Given the description of an element on the screen output the (x, y) to click on. 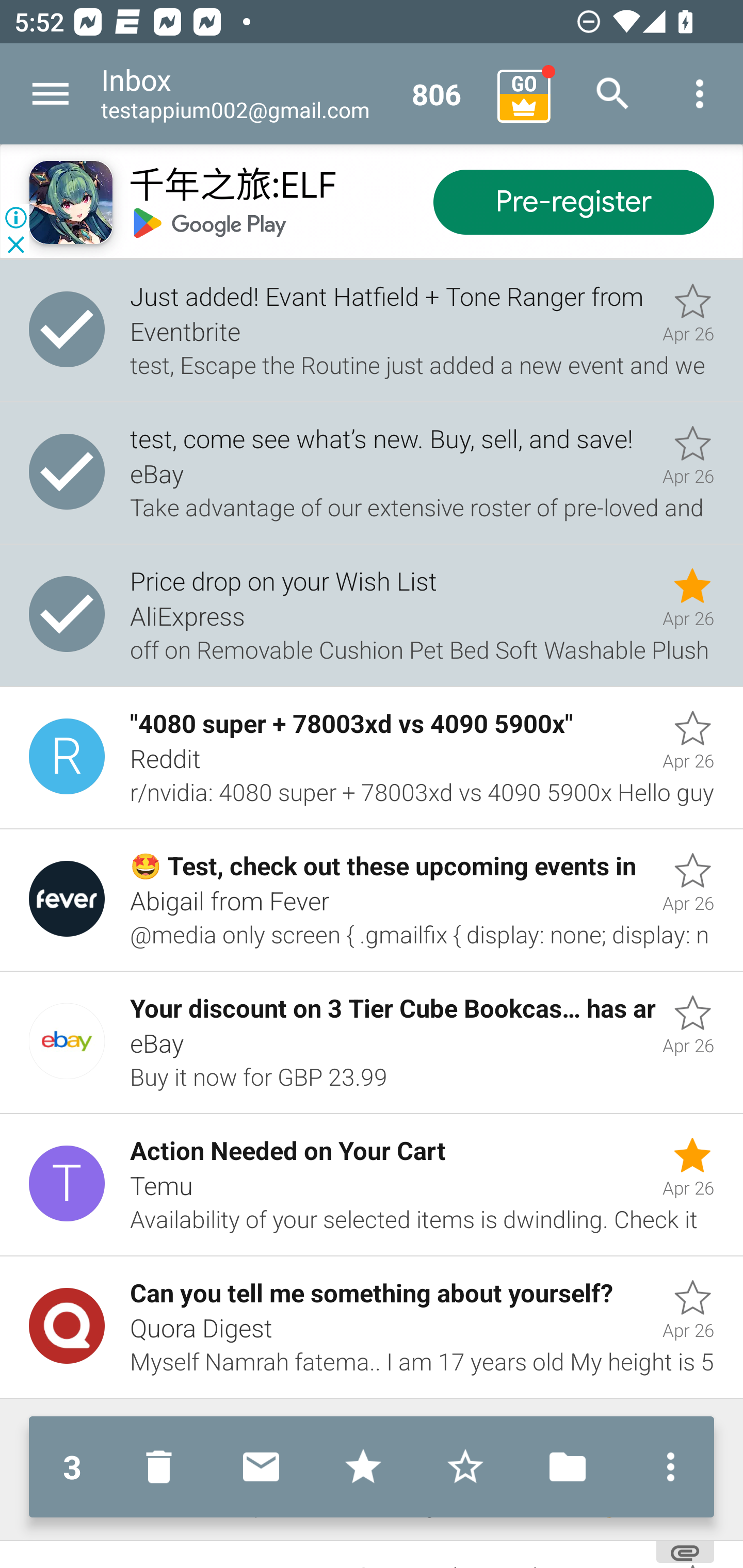
Navigate up (50, 93)
Inbox testappium002@gmail.com 806 (291, 93)
Search (612, 93)
More options (699, 93)
千年之旅:ELF (232, 186)
Pre-register (573, 202)
3 3 messages (71, 1466)
Move to Deleted (162, 1466)
Mark unread (261, 1466)
Mark with stars (363, 1466)
Remove stars (465, 1466)
Move to folder… (567, 1466)
More options (666, 1466)
